Given the description of an element on the screen output the (x, y) to click on. 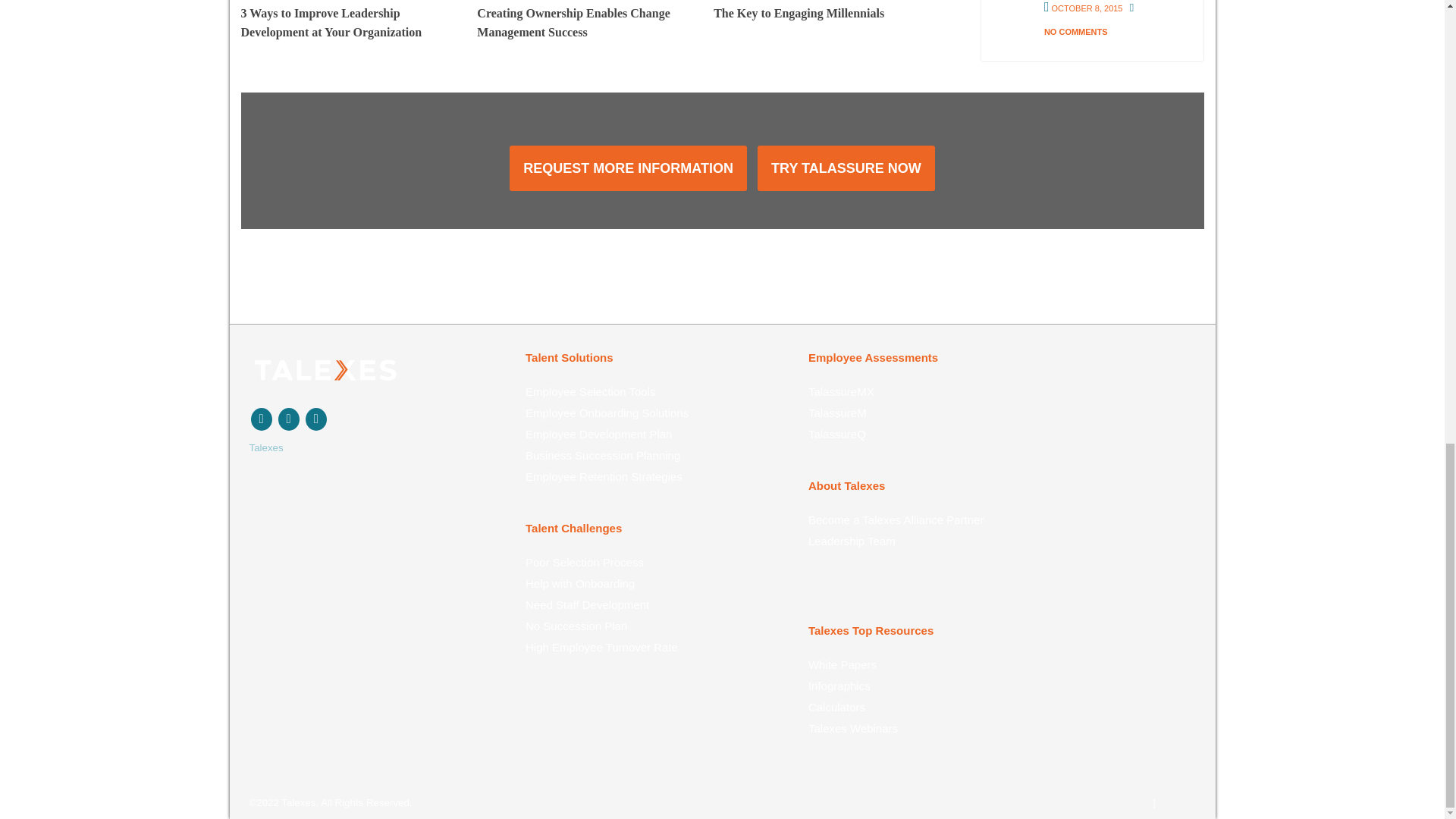
Creating Ownership Enables Change Management Success (585, 21)
The Key to Engaging Millennials (820, 11)
